Given the description of an element on the screen output the (x, y) to click on. 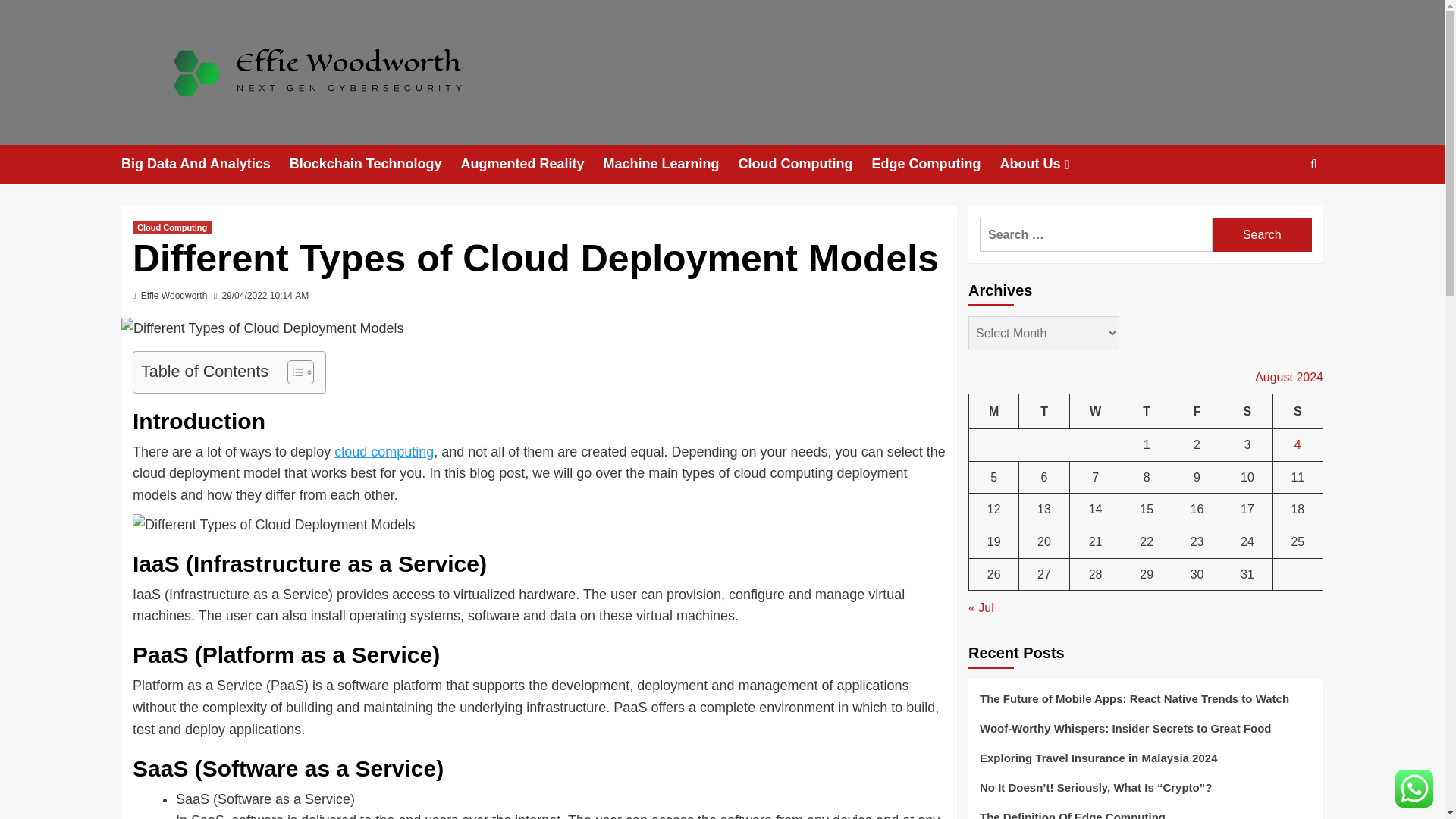
Big Data And Analytics (204, 163)
Edge Computing (934, 163)
Machine Learning (670, 163)
Cloud Computing (171, 227)
Cloud Computing (804, 163)
Search (1261, 234)
Different Types of Cloud Deployment Models (273, 525)
Effie Woodworth (174, 295)
cloud computing (383, 451)
Different Types of Cloud Deployment Models (262, 328)
Blockchain Technology (375, 163)
About Us (1045, 163)
Augmented Reality (531, 163)
Search (1261, 234)
Search (1278, 211)
